Given the description of an element on the screen output the (x, y) to click on. 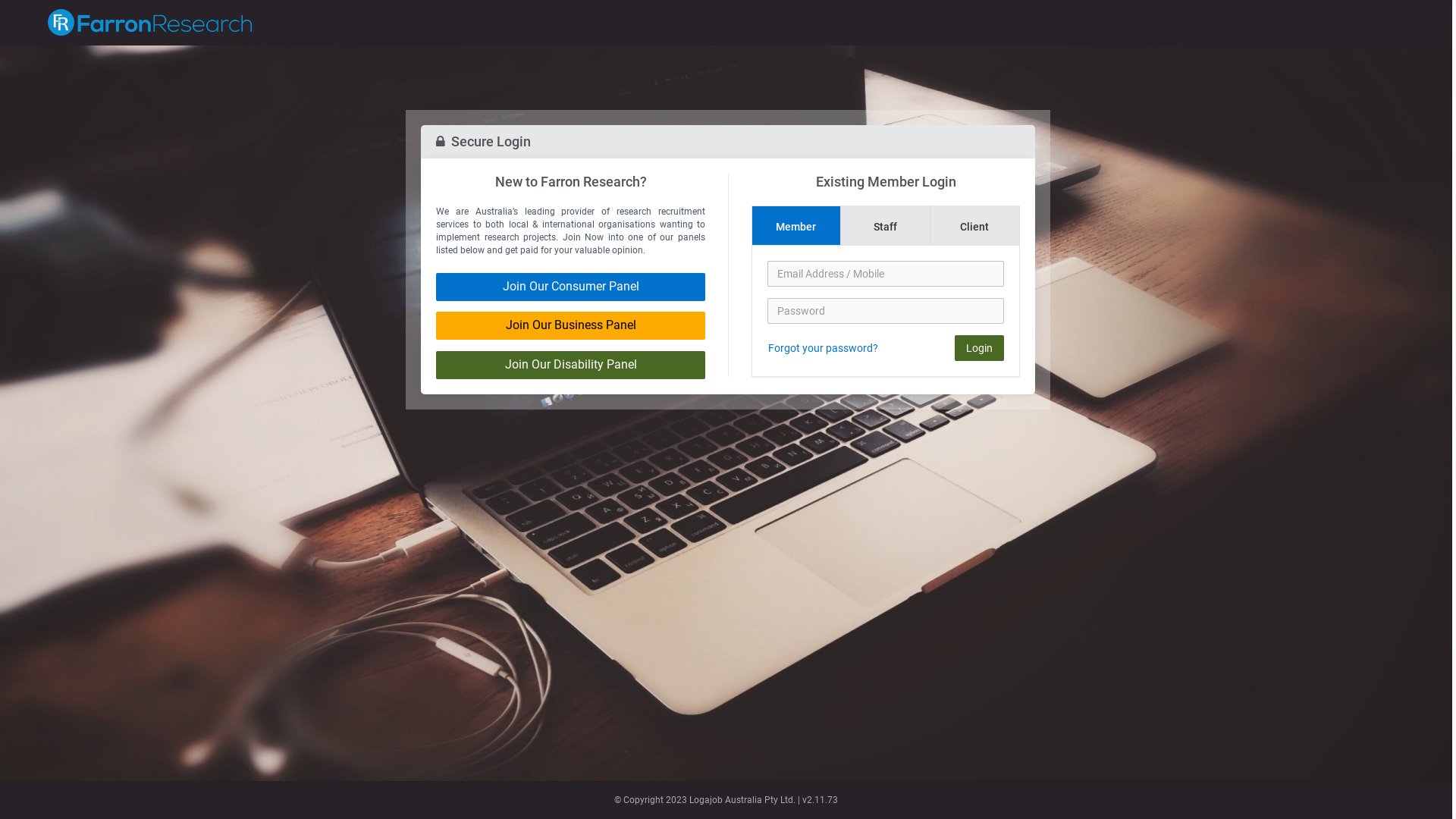
Login Element type: text (979, 347)
Farron Research Logo Element type: hover (149, 22)
Join Our Disability Panel Element type: text (570, 365)
Client Element type: text (974, 225)
Staff Element type: text (884, 225)
Member Element type: text (796, 225)
Forgot your password? Element type: text (822, 347)
Join Our Consumer Panel Element type: text (570, 287)
Join Our Business Panel Element type: text (570, 325)
